Given the description of an element on the screen output the (x, y) to click on. 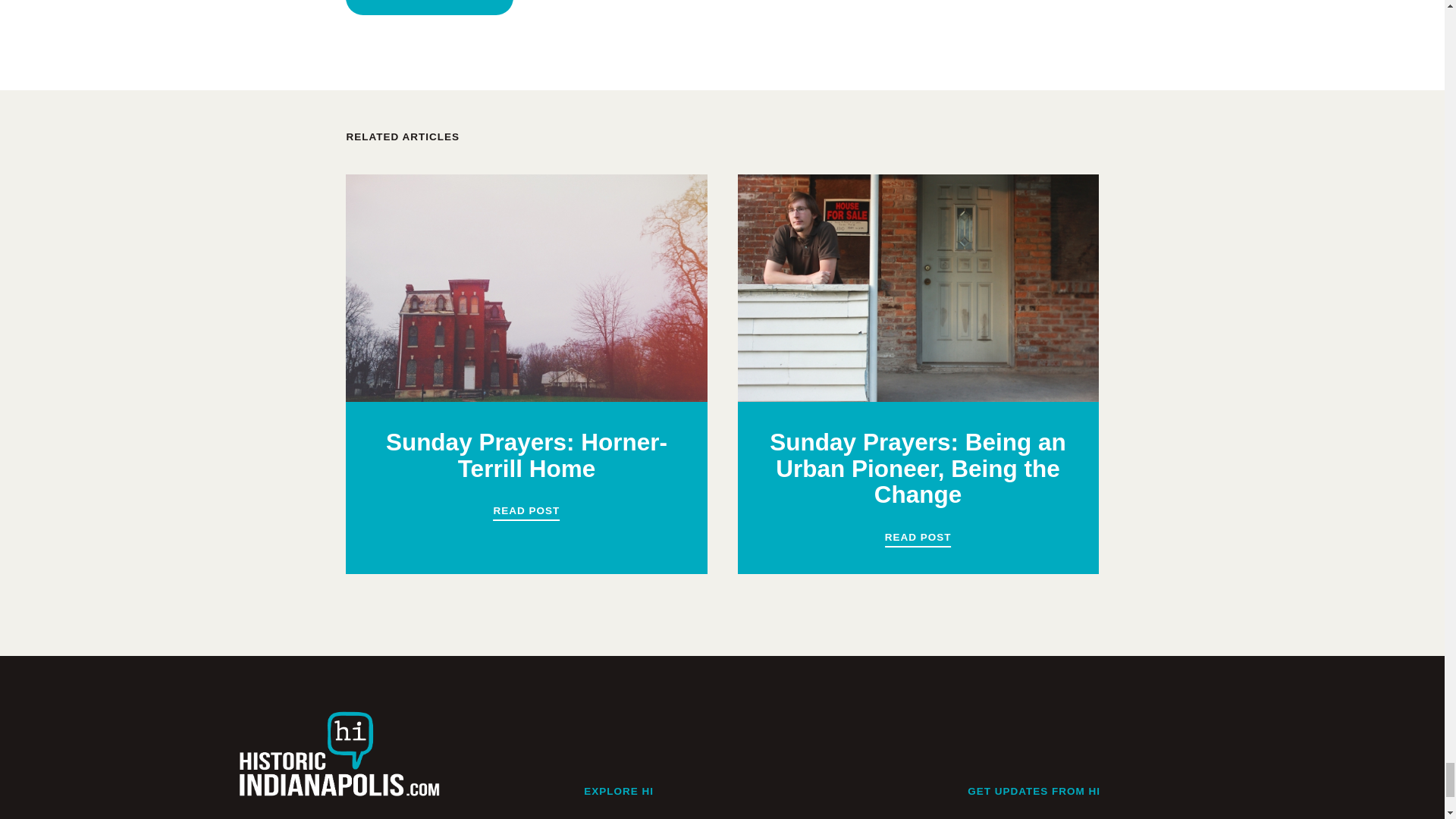
Post Comment (429, 7)
Historic Indianapolis (338, 764)
